Given the description of an element on the screen output the (x, y) to click on. 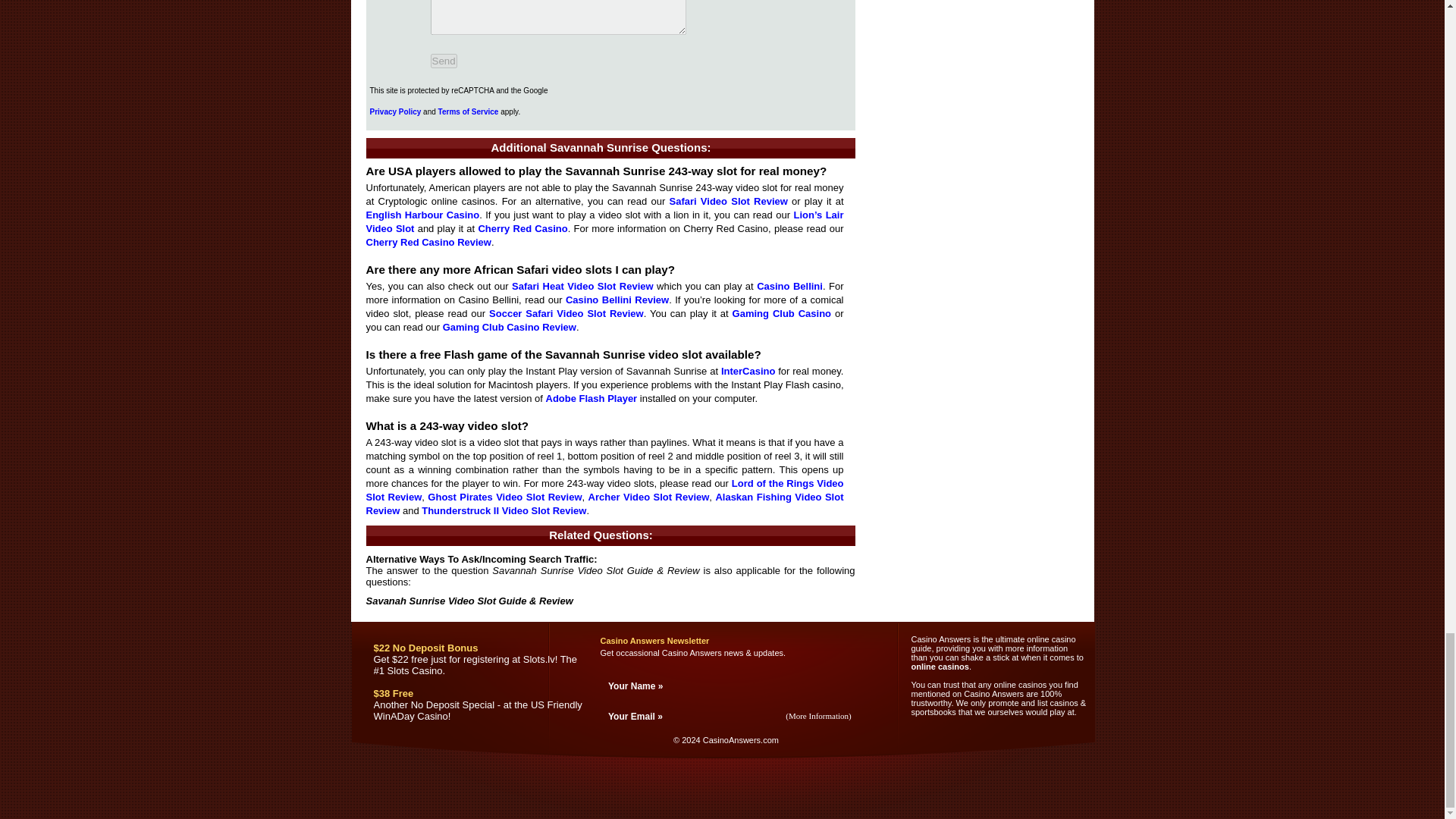
Send (443, 60)
